Given the description of an element on the screen output the (x, y) to click on. 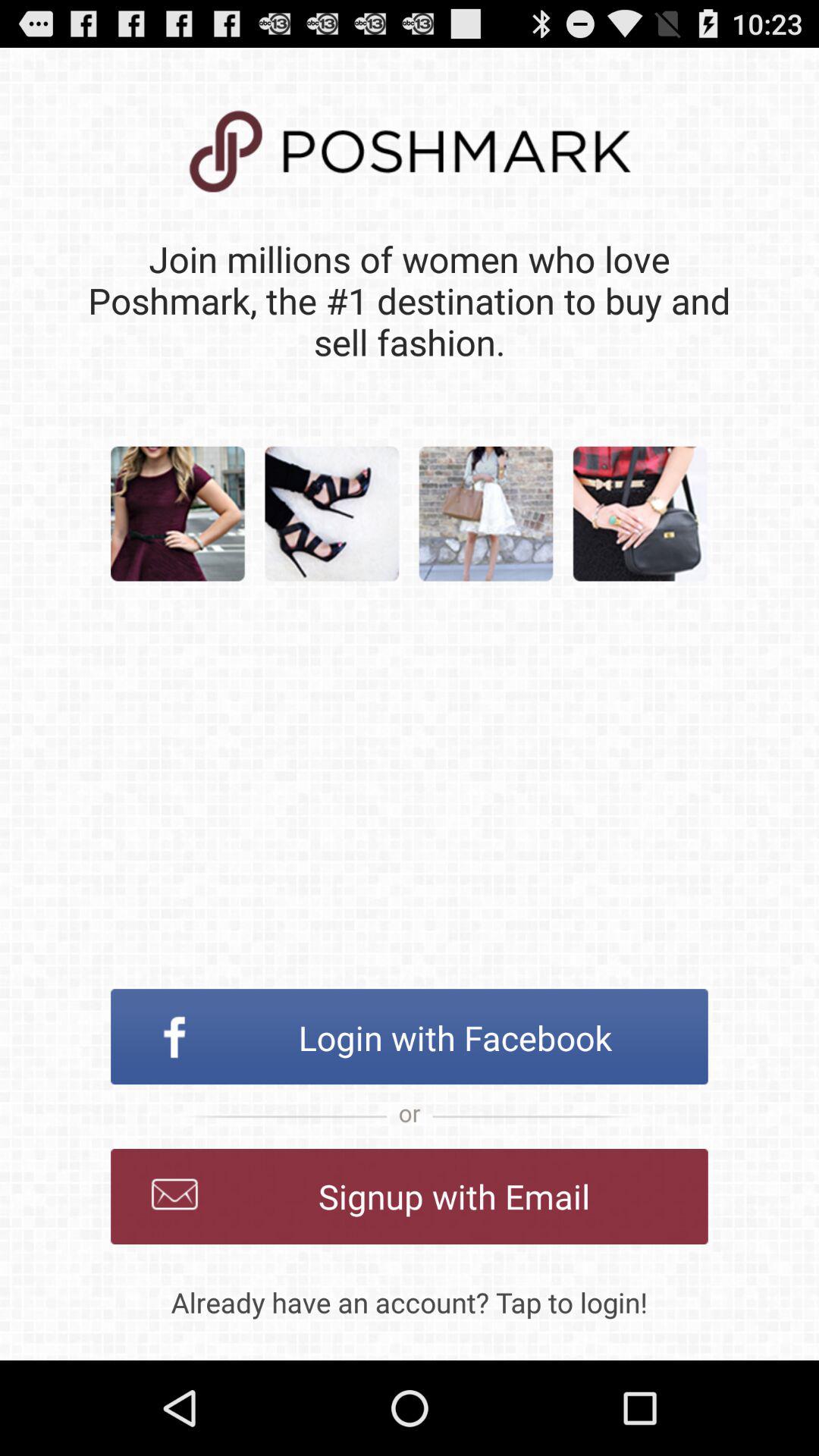
turn on signup with email item (409, 1196)
